Given the description of an element on the screen output the (x, y) to click on. 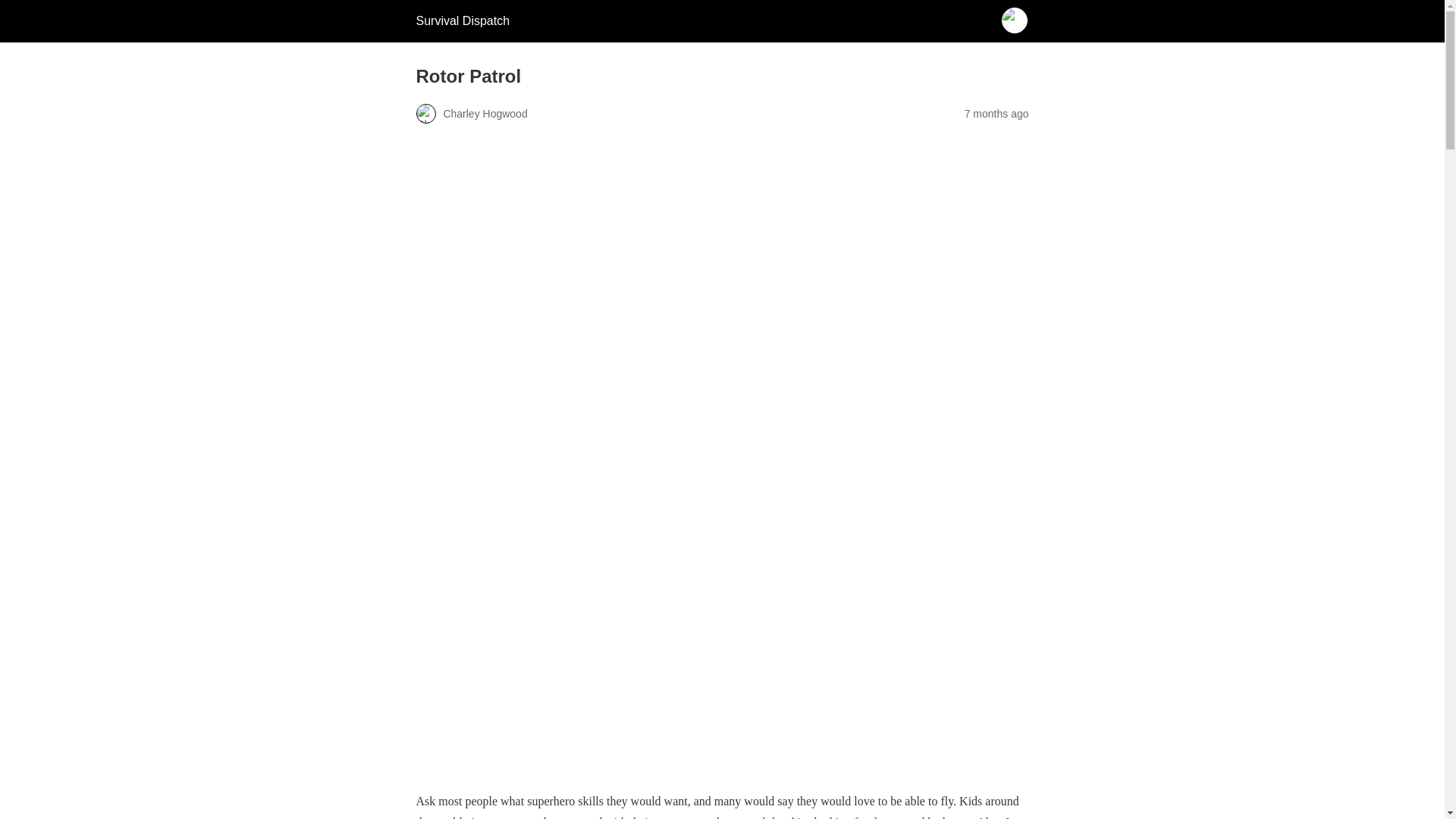
Survival Dispatch (461, 20)
